Given the description of an element on the screen output the (x, y) to click on. 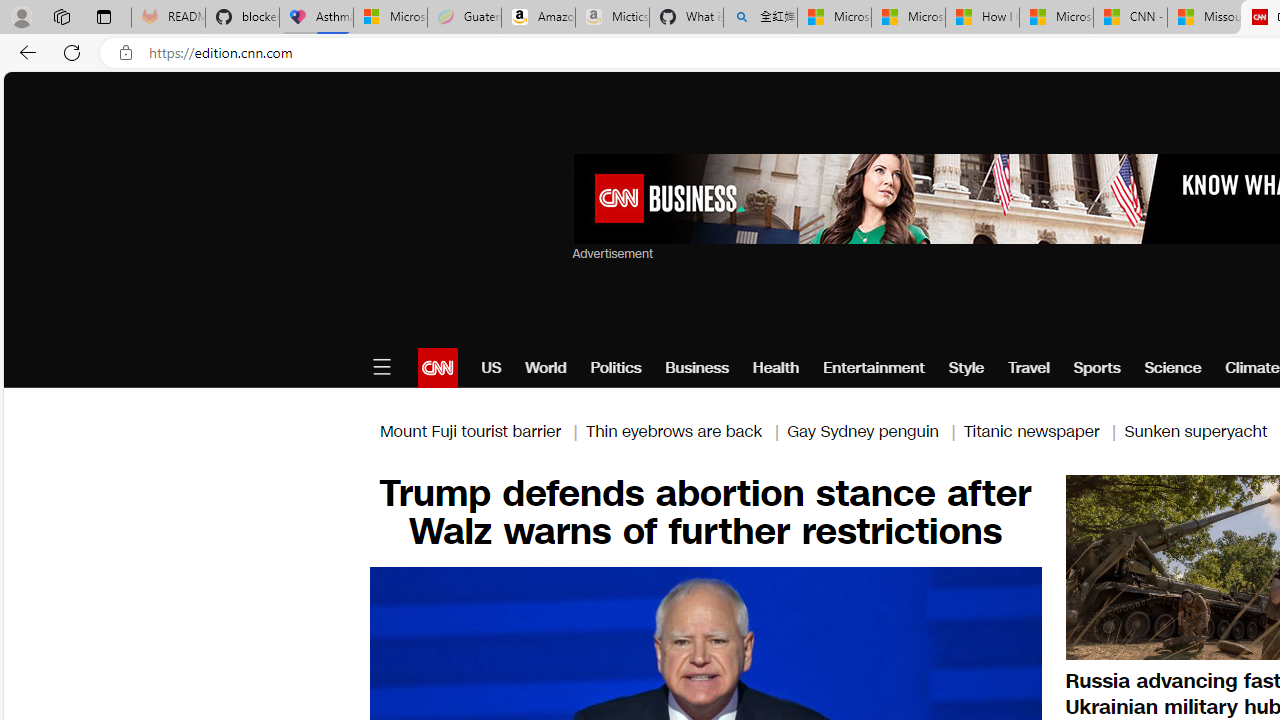
CNN - MSN (1130, 17)
Style (966, 367)
